Given the description of an element on the screen output the (x, y) to click on. 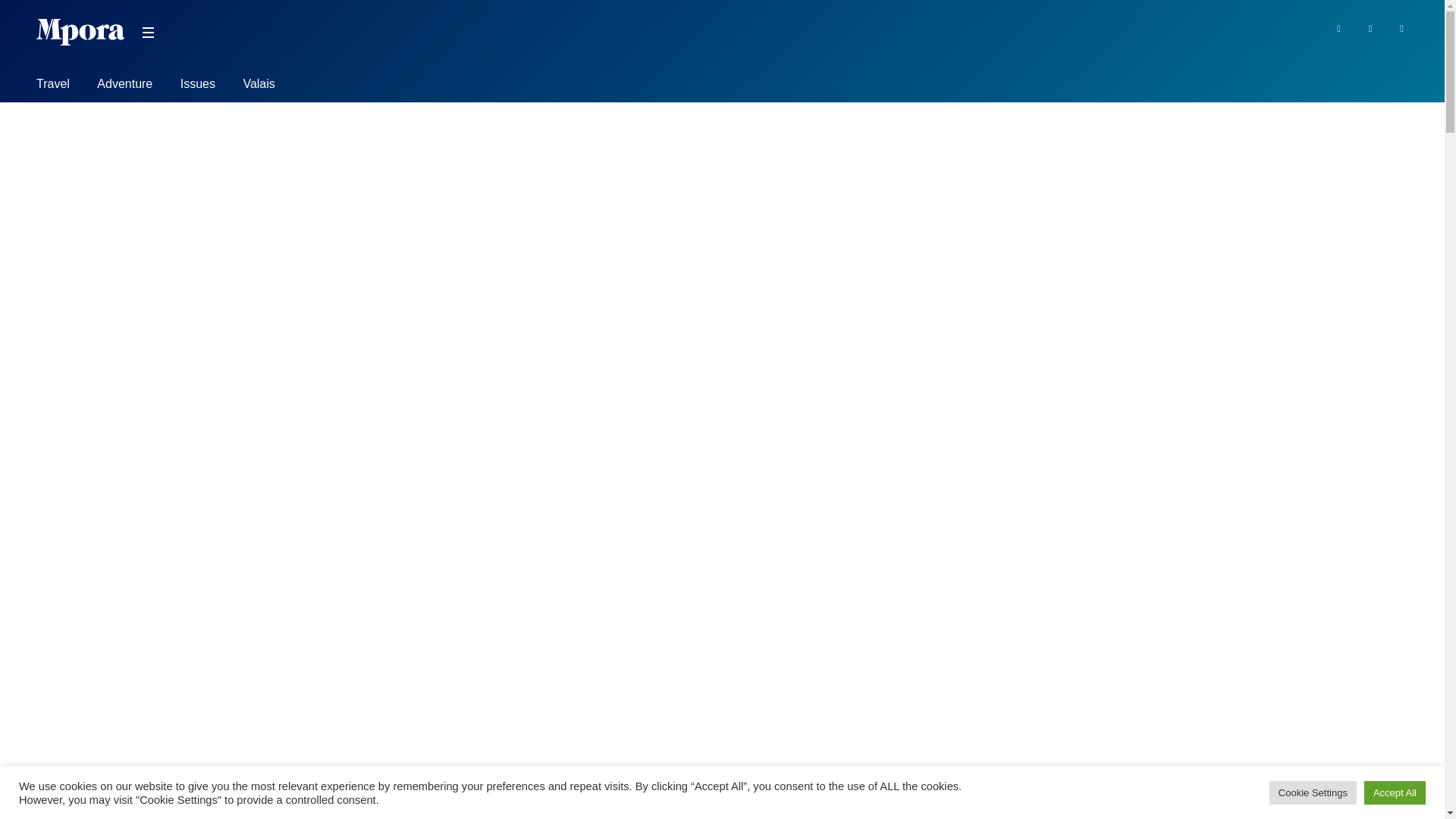
Follow us on Twitter (1370, 27)
Valais (259, 85)
Adventure (124, 85)
Issues (197, 85)
Travel (52, 85)
Menu (147, 32)
Find us on Facebook (1338, 27)
Find us on Instagram (1400, 27)
